Given the description of an element on the screen output the (x, y) to click on. 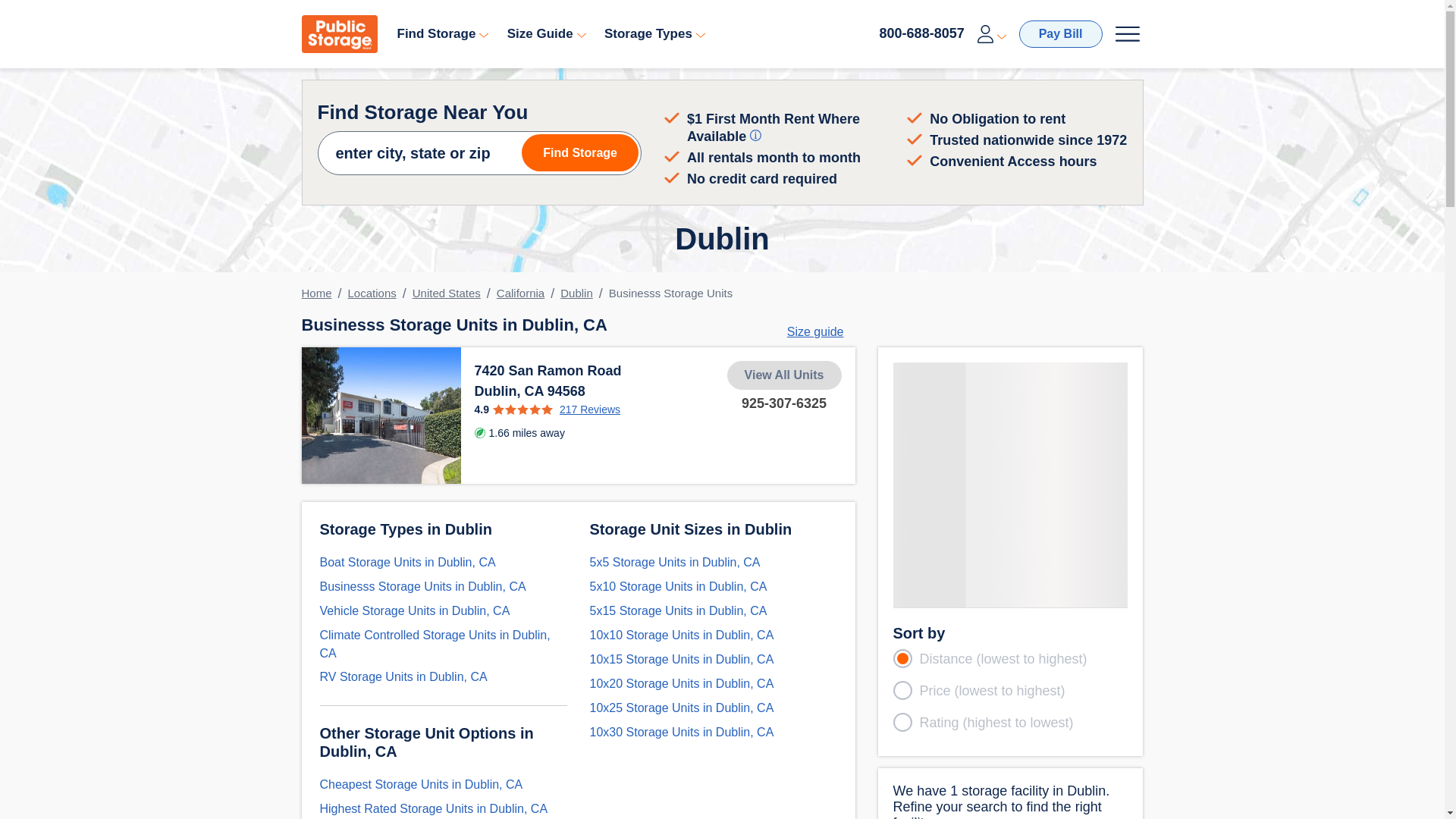
Public Storage Home (339, 34)
800-688-8057 (921, 33)
Find Storage (444, 33)
Size Guide (547, 33)
Pay Bill (1060, 33)
Storage Types (656, 33)
